Given the description of an element on the screen output the (x, y) to click on. 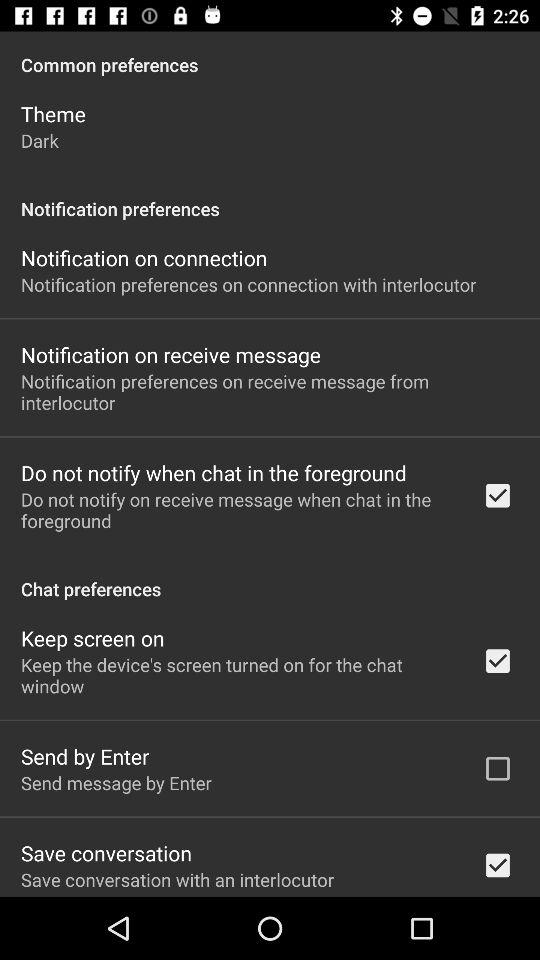
tap app below do not notify icon (270, 578)
